Given the description of an element on the screen output the (x, y) to click on. 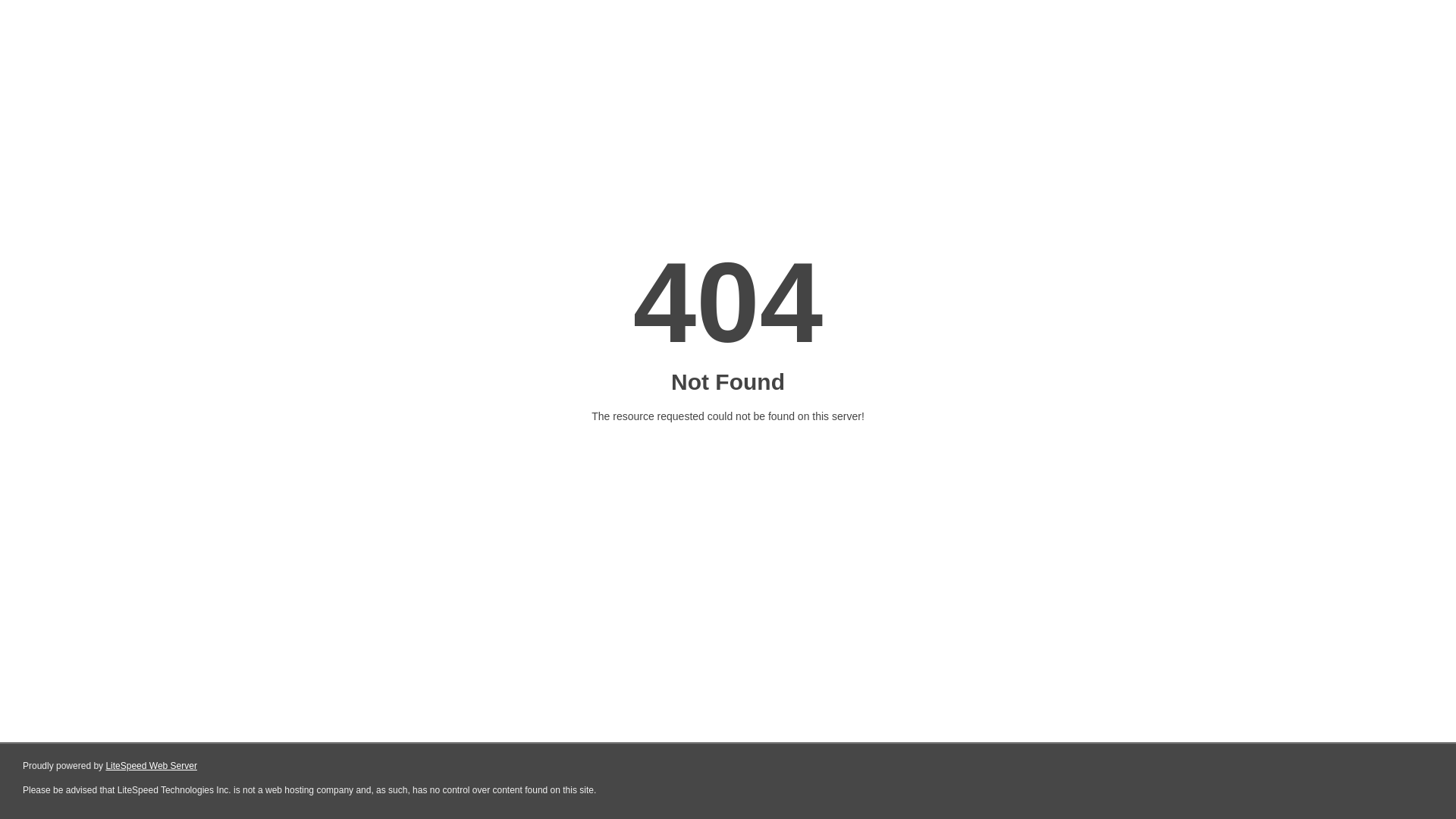
LiteSpeed Web Server Element type: text (151, 765)
